Given the description of an element on the screen output the (x, y) to click on. 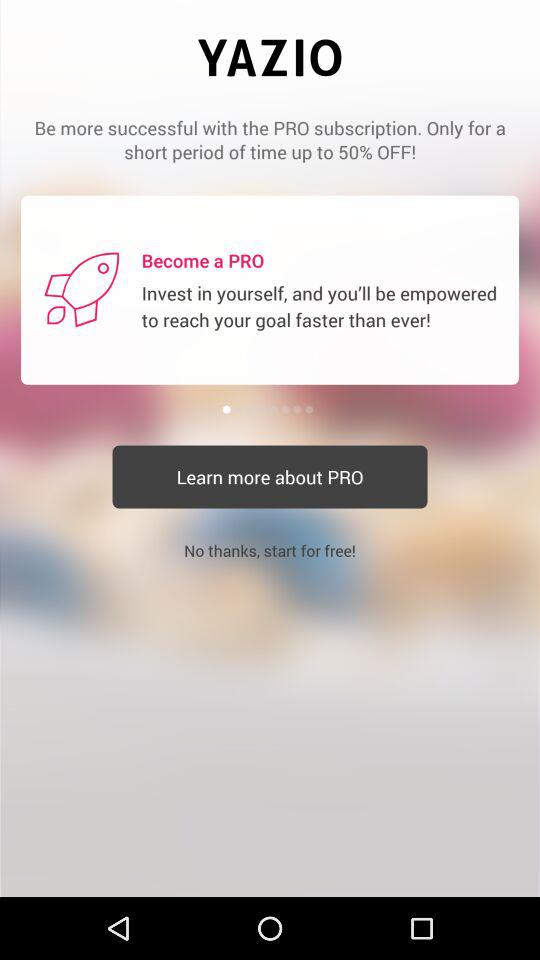
launch the learn more about (269, 476)
